Given the description of an element on the screen output the (x, y) to click on. 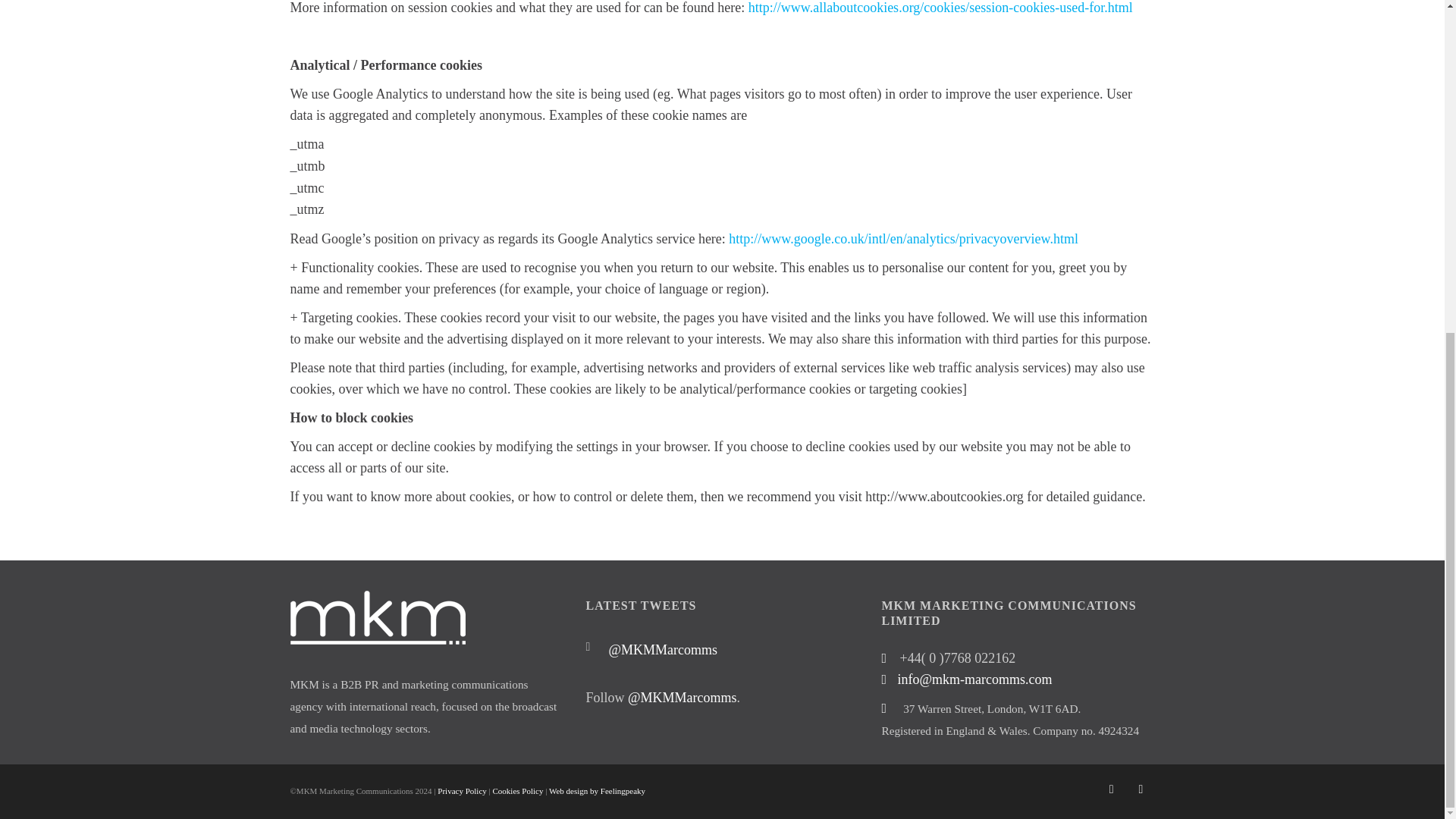
Web design by Feelingpeaky (596, 790)
Cookies Policy (517, 790)
Privacy Policy (462, 790)
